Given the description of an element on the screen output the (x, y) to click on. 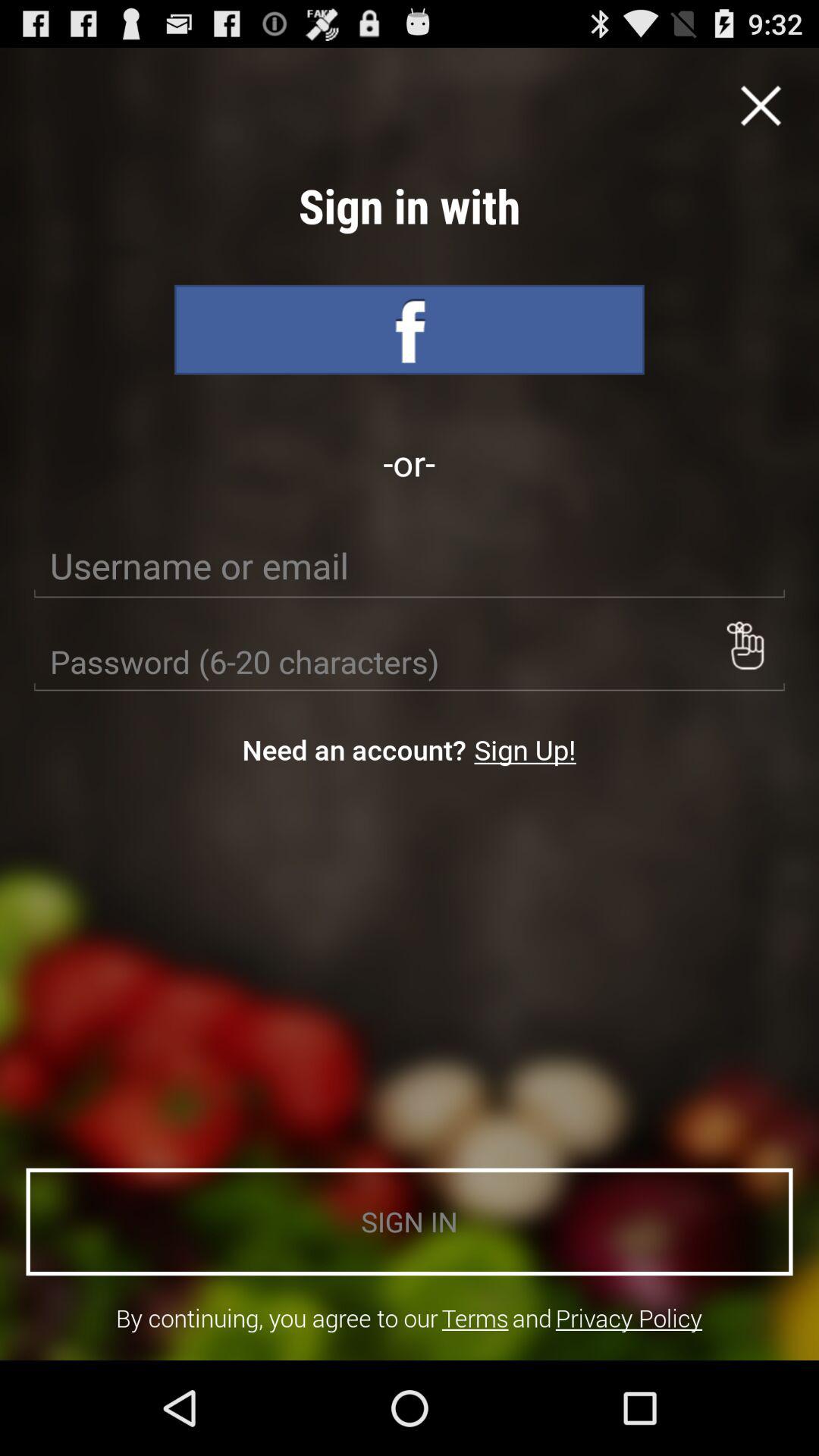
open icon at the bottom right corner (628, 1317)
